Given the description of an element on the screen output the (x, y) to click on. 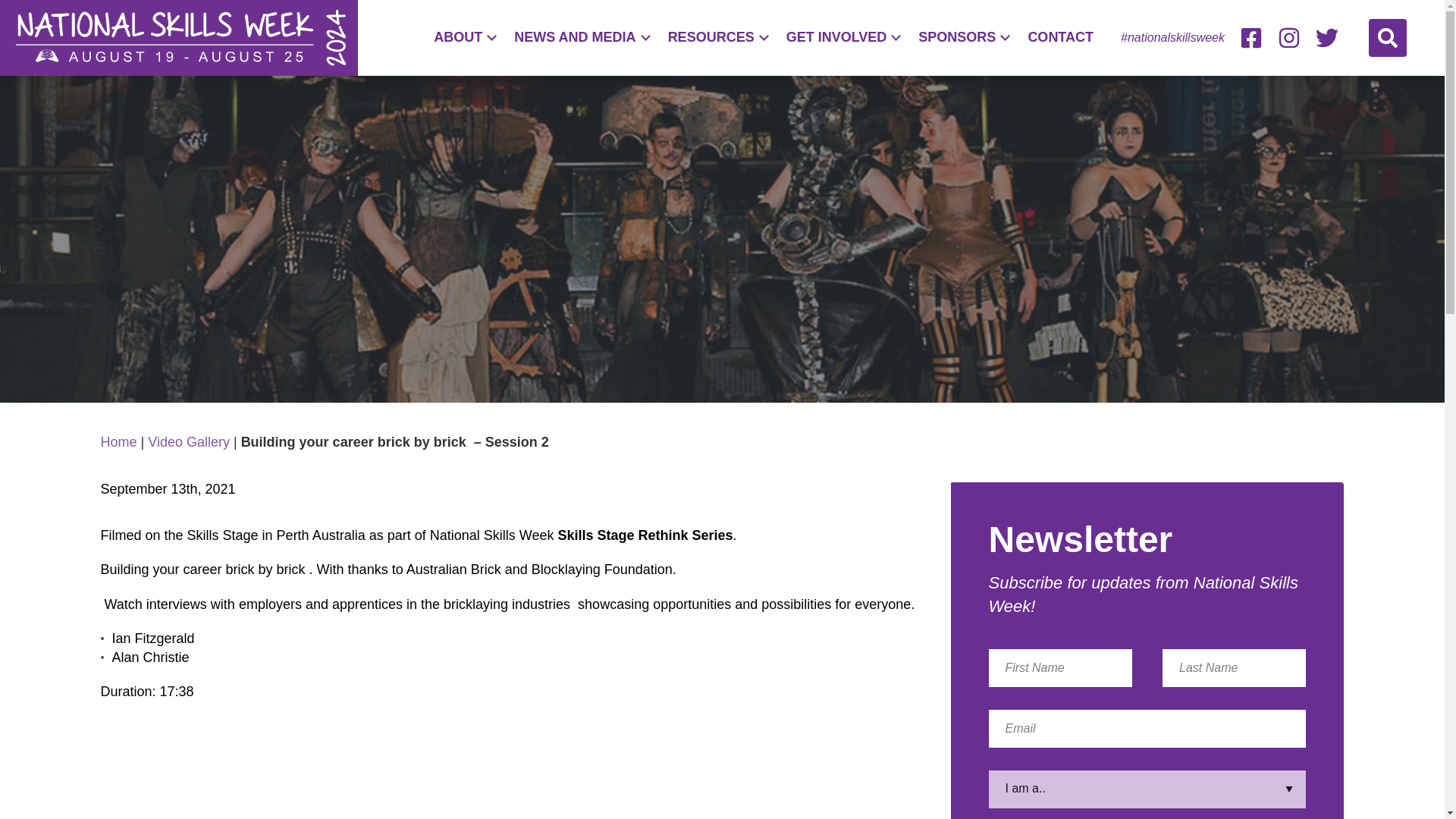
GET INVOLVED (842, 37)
Open Search (1387, 37)
SPONSORS (963, 37)
Video Gallery (189, 441)
Search (1387, 37)
Facebook (1251, 37)
CONTACT (1060, 37)
Home (118, 441)
Instagram (1289, 37)
RESOURCES (717, 37)
